Given the description of an element on the screen output the (x, y) to click on. 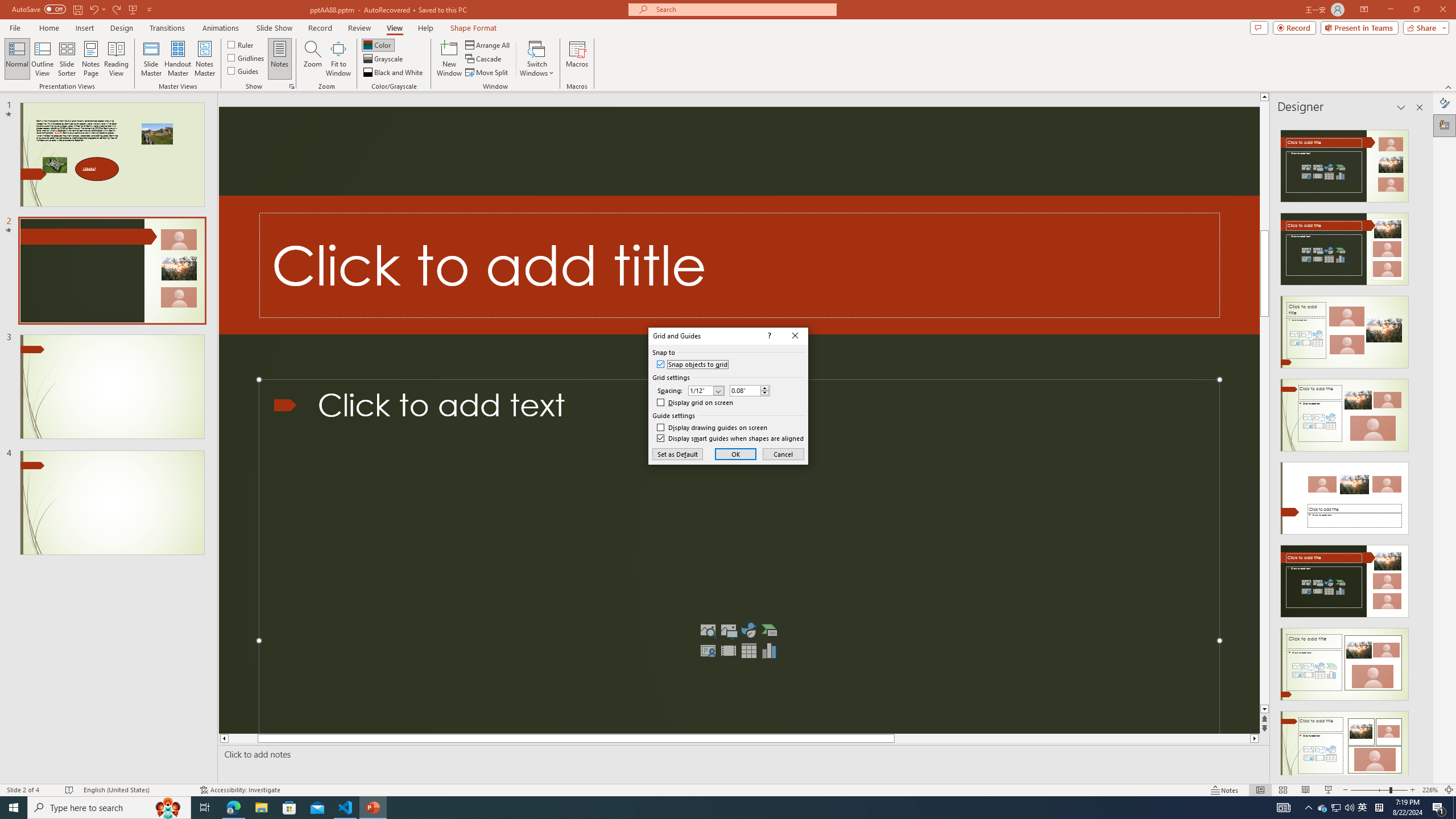
Spacing (706, 390)
Gridlines (246, 56)
Stock Images (707, 629)
Set as Default (677, 453)
Display smart guides when shapes are aligned (730, 438)
Design Idea (1344, 743)
Custom Spacing (749, 390)
